Given the description of an element on the screen output the (x, y) to click on. 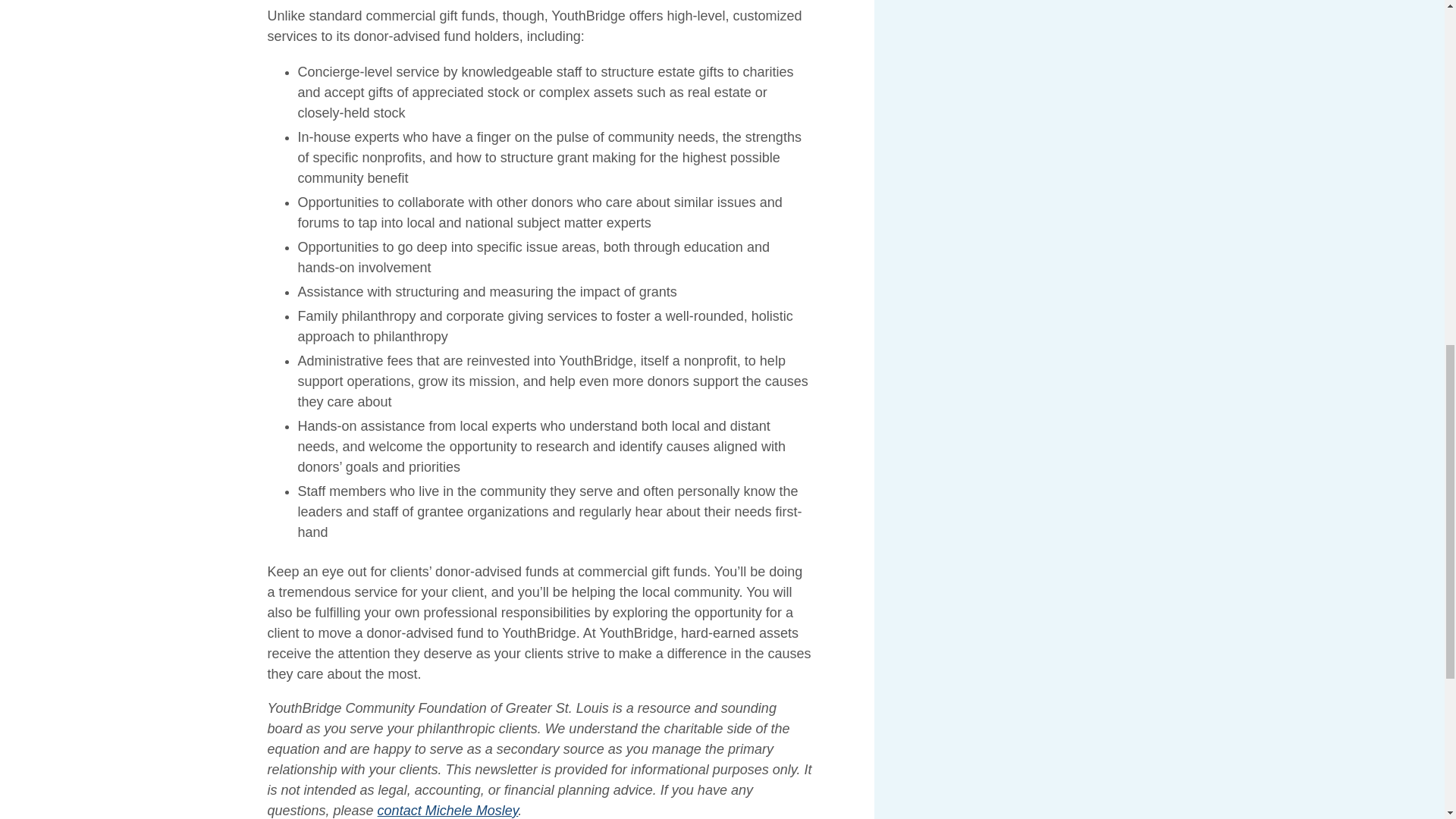
contact Michele Mosley (447, 810)
